Given the description of an element on the screen output the (x, y) to click on. 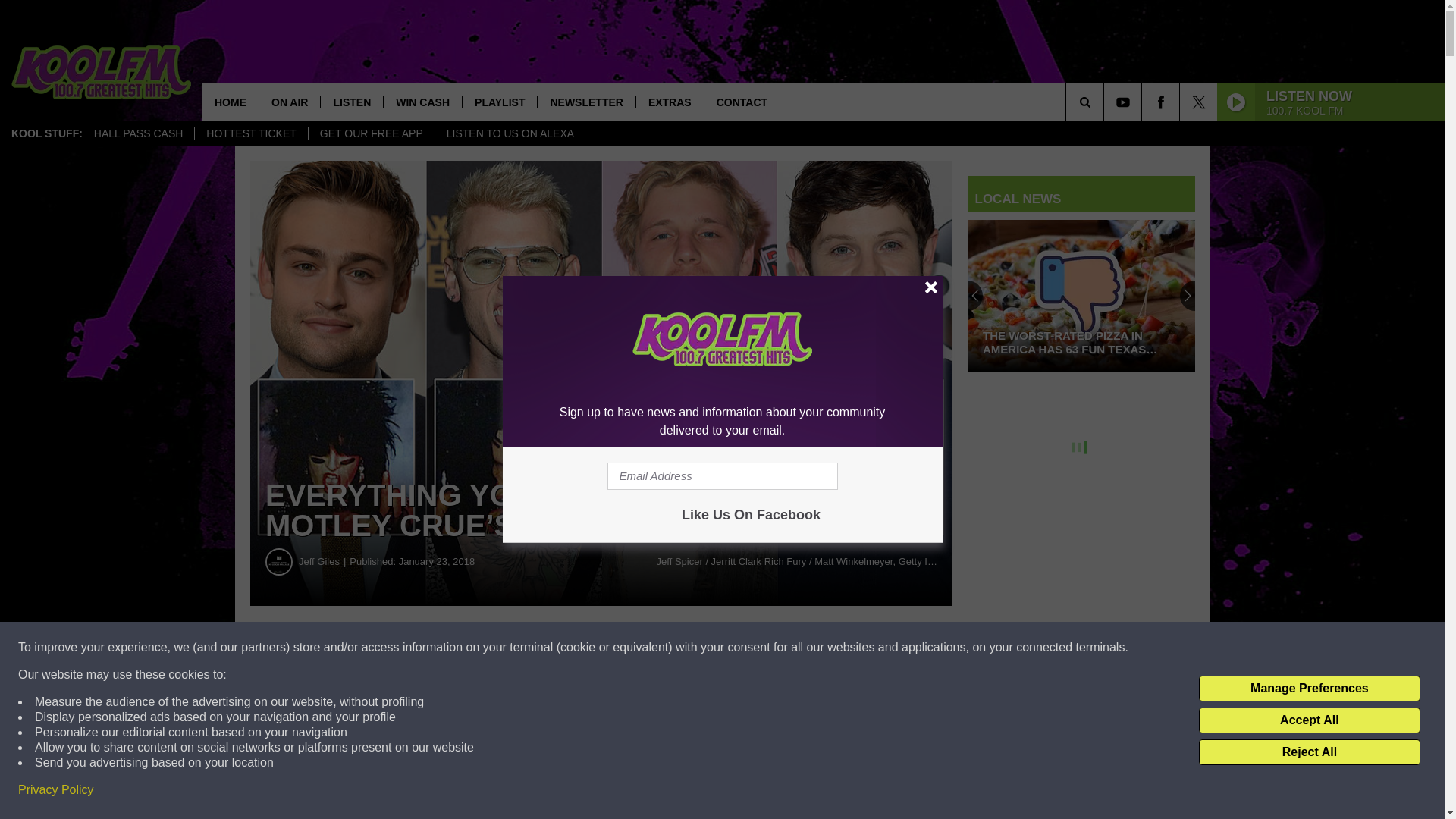
Email Address (722, 475)
LISTEN TO US ON ALEXA (509, 133)
Reject All (1309, 751)
Share on Twitter (741, 647)
Privacy Policy (55, 789)
Accept All (1309, 720)
GET OUR FREE APP (370, 133)
HALL PASS CASH (138, 133)
CONTACT (740, 102)
Share on Facebook (460, 647)
Manage Preferences (1309, 688)
SEARCH (1106, 102)
HOME (230, 102)
HOTTEST TICKET (250, 133)
EXTRAS (668, 102)
